Given the description of an element on the screen output the (x, y) to click on. 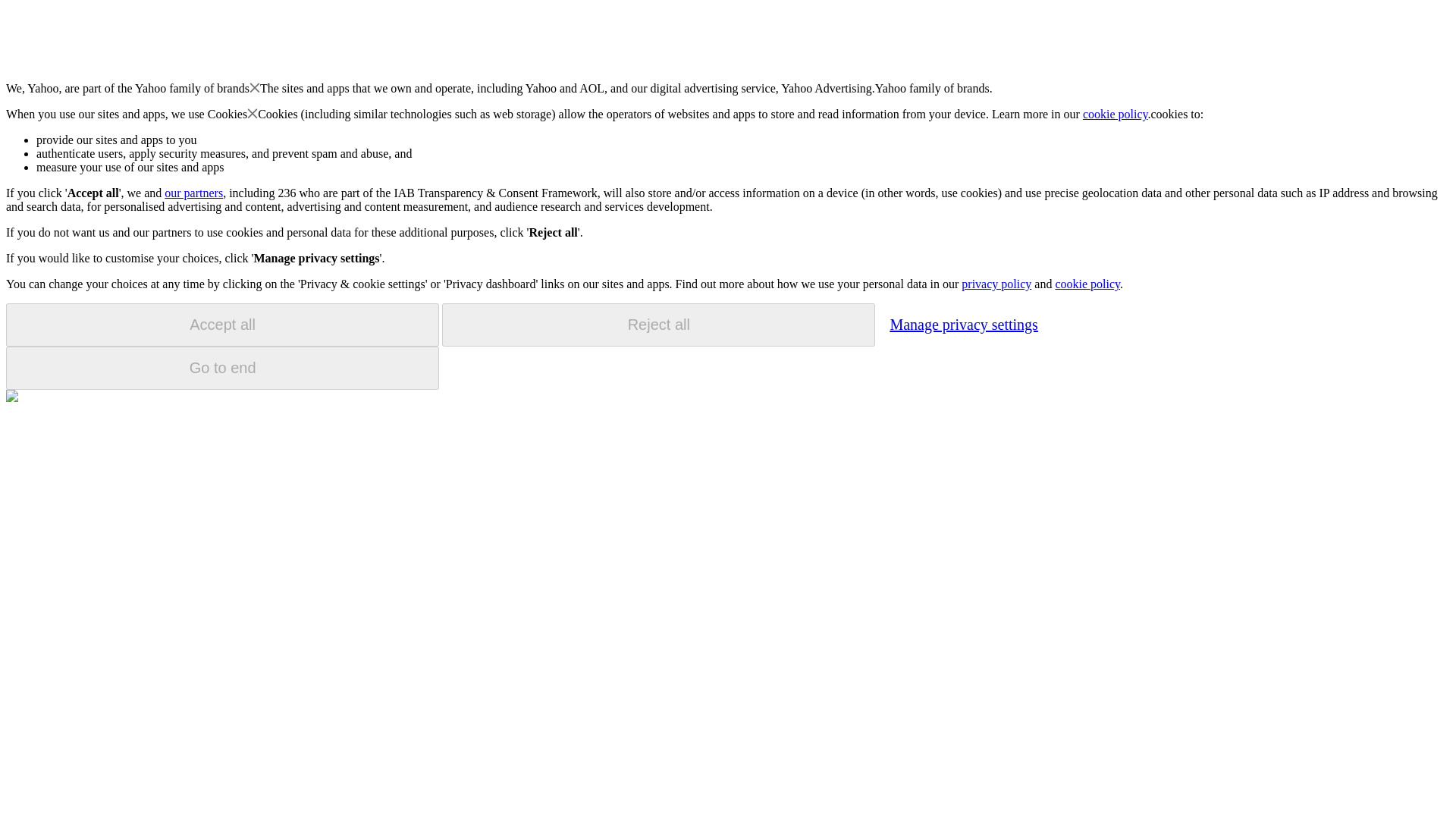
cookie policy (1086, 283)
our partners (193, 192)
privacy policy (995, 283)
cookie policy (1115, 113)
Reject all (658, 324)
Manage privacy settings (963, 323)
Go to end (222, 367)
Accept all (222, 324)
